Given the description of an element on the screen output the (x, y) to click on. 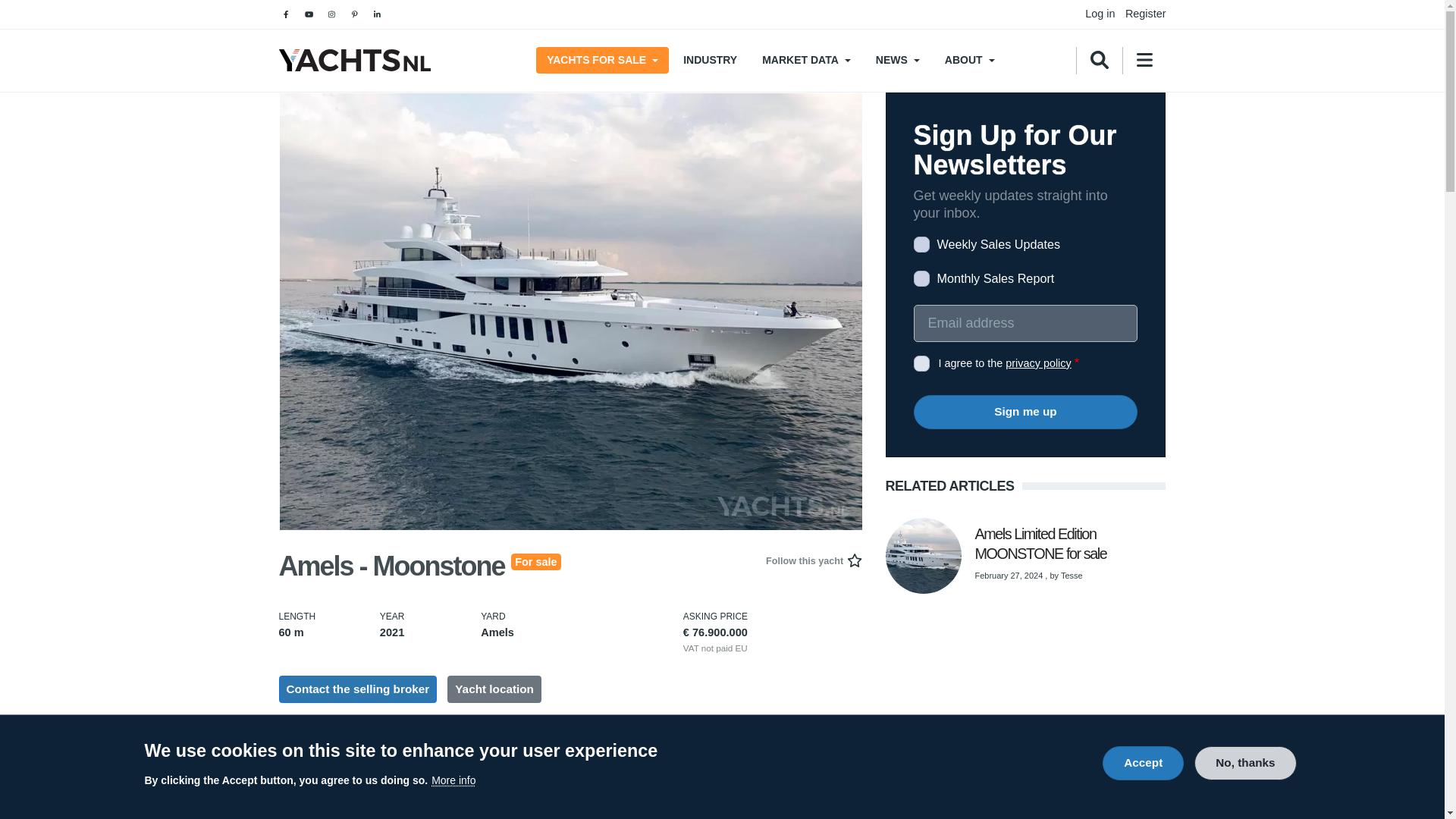
NEWS (897, 59)
INDUSTRY (710, 59)
Sign me up (1024, 411)
Register (1145, 13)
1 (920, 363)
39c9d0910d (920, 244)
ee365c3d43 (920, 278)
Home (354, 59)
YACHTS FOR SALE (601, 59)
Contact the selling broker (358, 688)
